Given the description of an element on the screen output the (x, y) to click on. 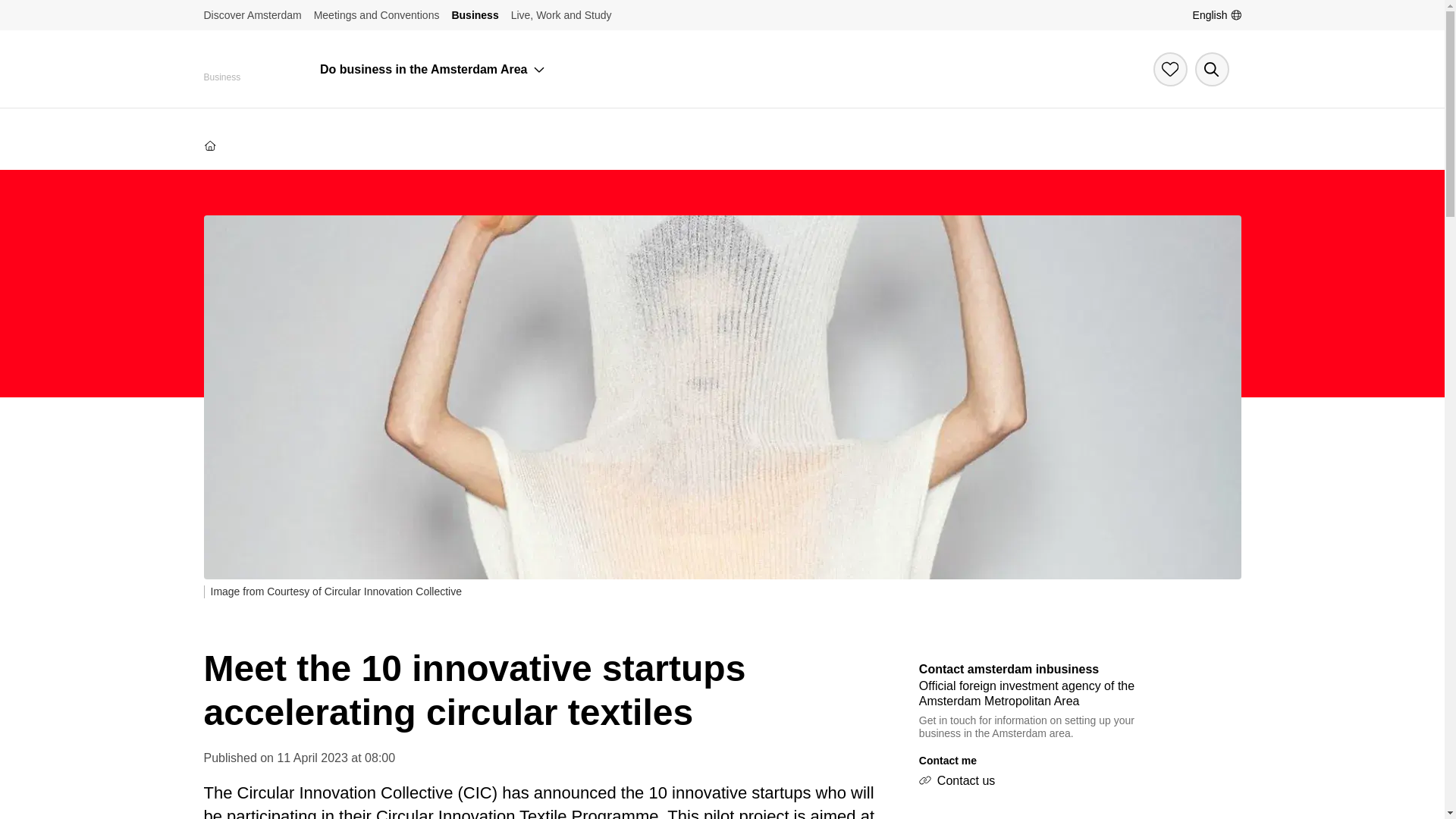
Your favourites (1169, 69)
Do business in the Amsterdam Area (423, 69)
Search (1211, 69)
Business in Amsterdam (209, 145)
English (1216, 15)
